Given the description of an element on the screen output the (x, y) to click on. 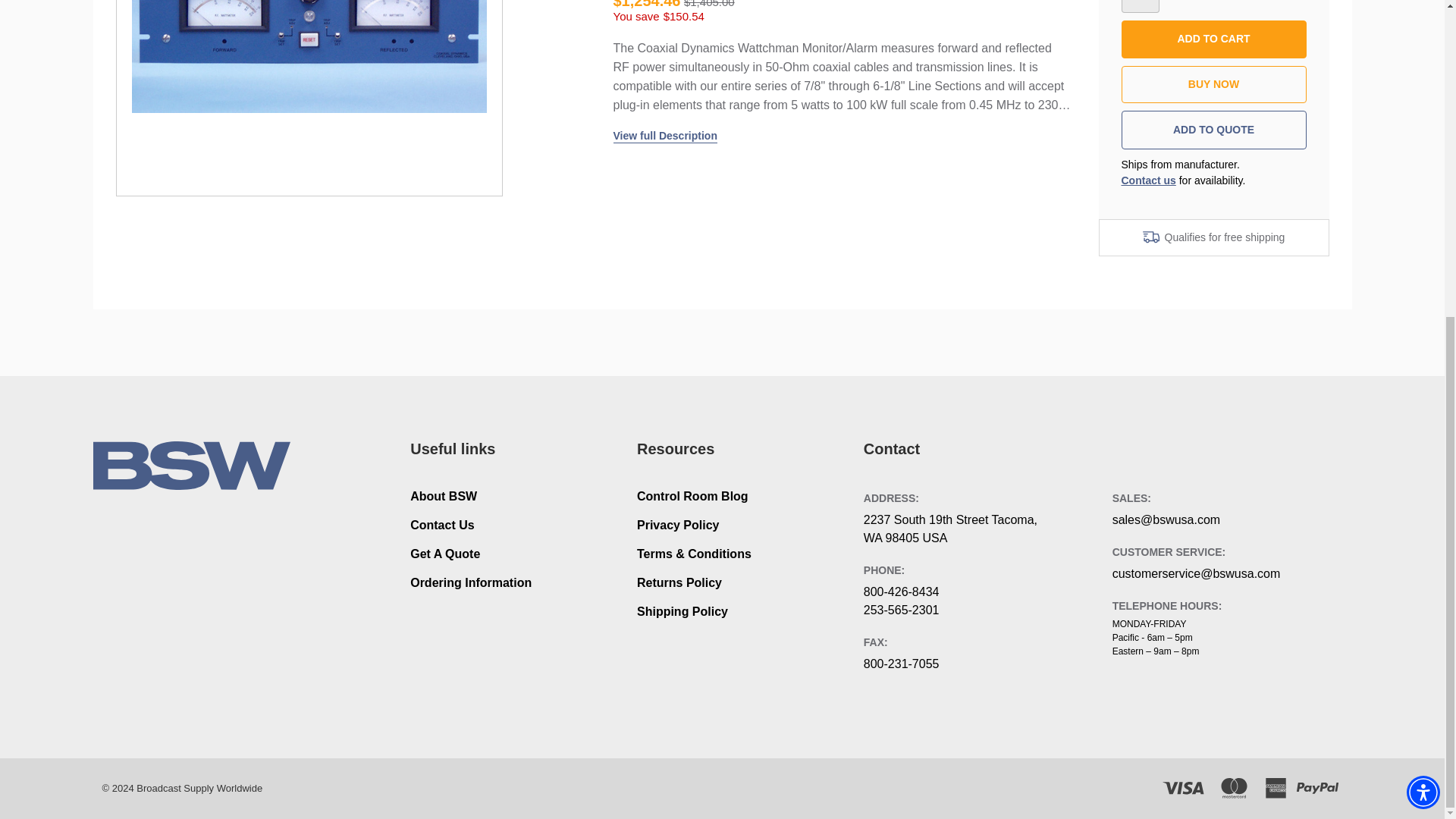
Buy Now (1213, 85)
Add To Cart (1213, 39)
Get to contact page (1147, 180)
Contact us (1147, 180)
Buy Now (1213, 85)
Accessibility Menu (1422, 281)
Broadcast Supply Worldwide (191, 465)
Add To Cart (1213, 39)
1 (1139, 6)
